Given the description of an element on the screen output the (x, y) to click on. 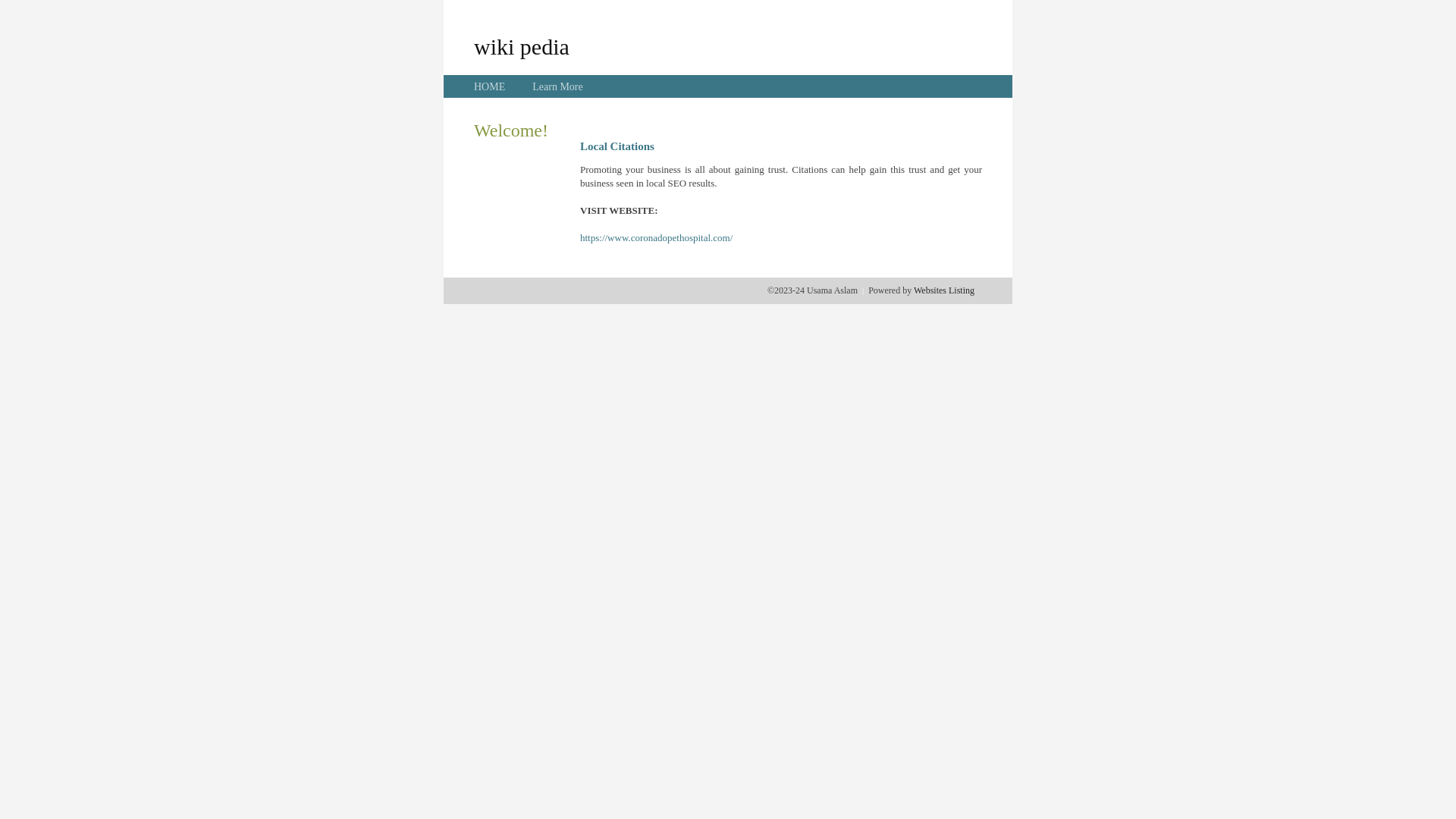
https://www.coronadopethospital.com/ Element type: text (656, 237)
Learn More Element type: text (557, 86)
wiki pedia Element type: text (521, 46)
HOME Element type: text (489, 86)
Websites Listing Element type: text (943, 290)
